Given the description of an element on the screen output the (x, y) to click on. 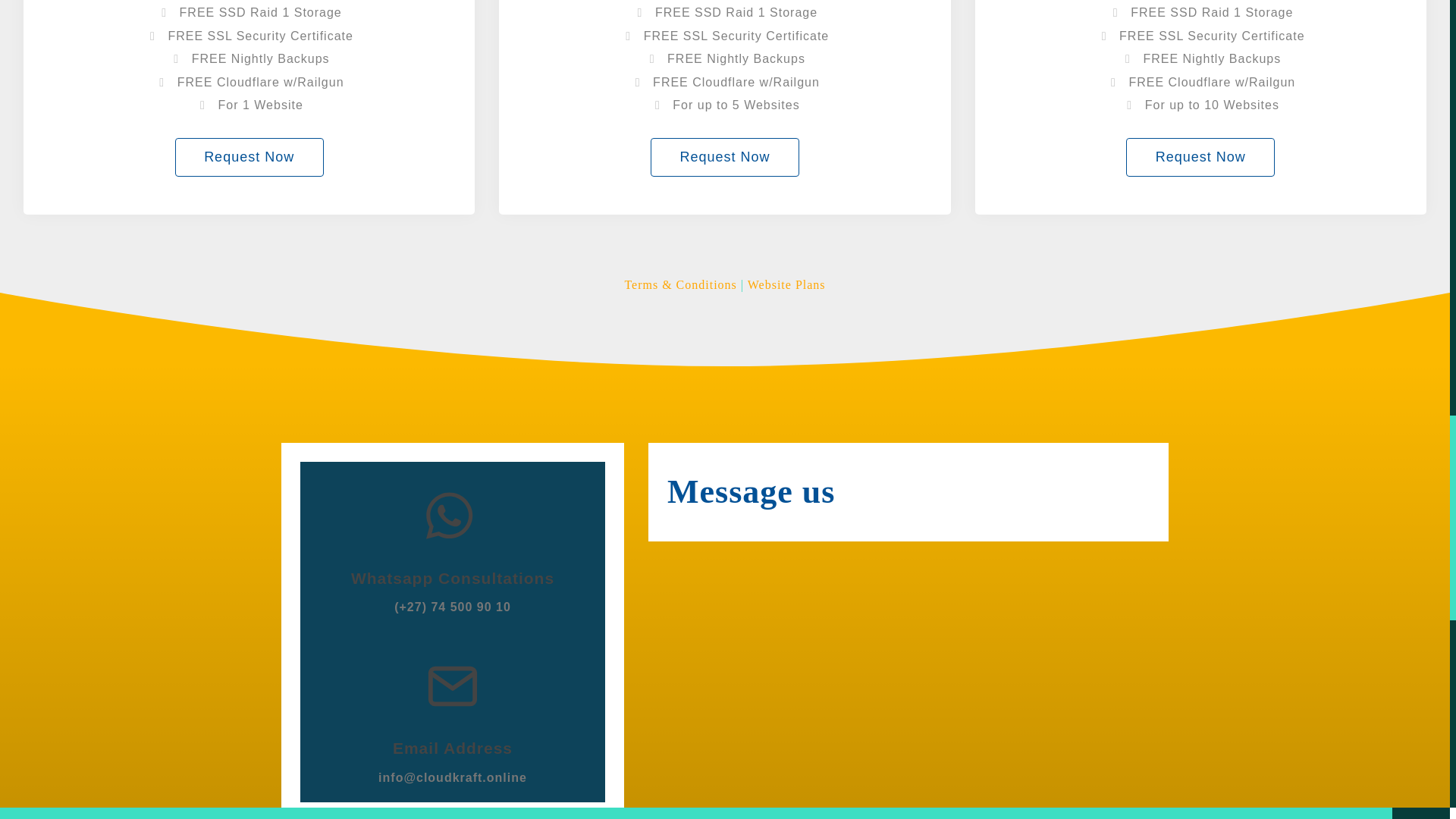
Website Plans (786, 284)
Request Now (724, 157)
Request Now (1200, 157)
Request Now (248, 157)
